Given the description of an element on the screen output the (x, y) to click on. 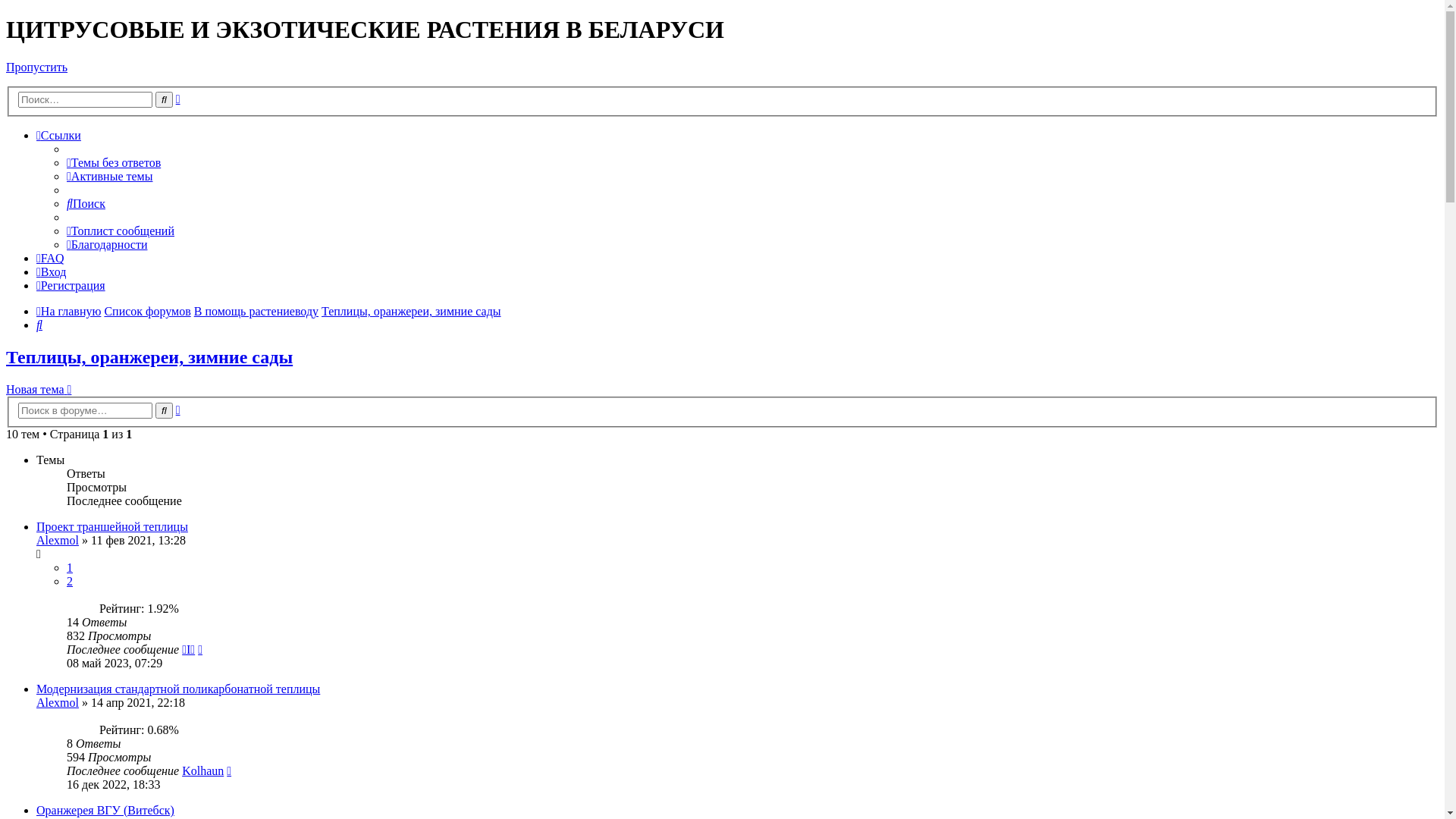
Kolhaun Element type: text (202, 770)
FAQ Element type: text (50, 257)
Alexmol Element type: text (57, 702)
Alexmol Element type: text (57, 539)
2 Element type: text (69, 580)
1 Element type: text (69, 567)
